Given the description of an element on the screen output the (x, y) to click on. 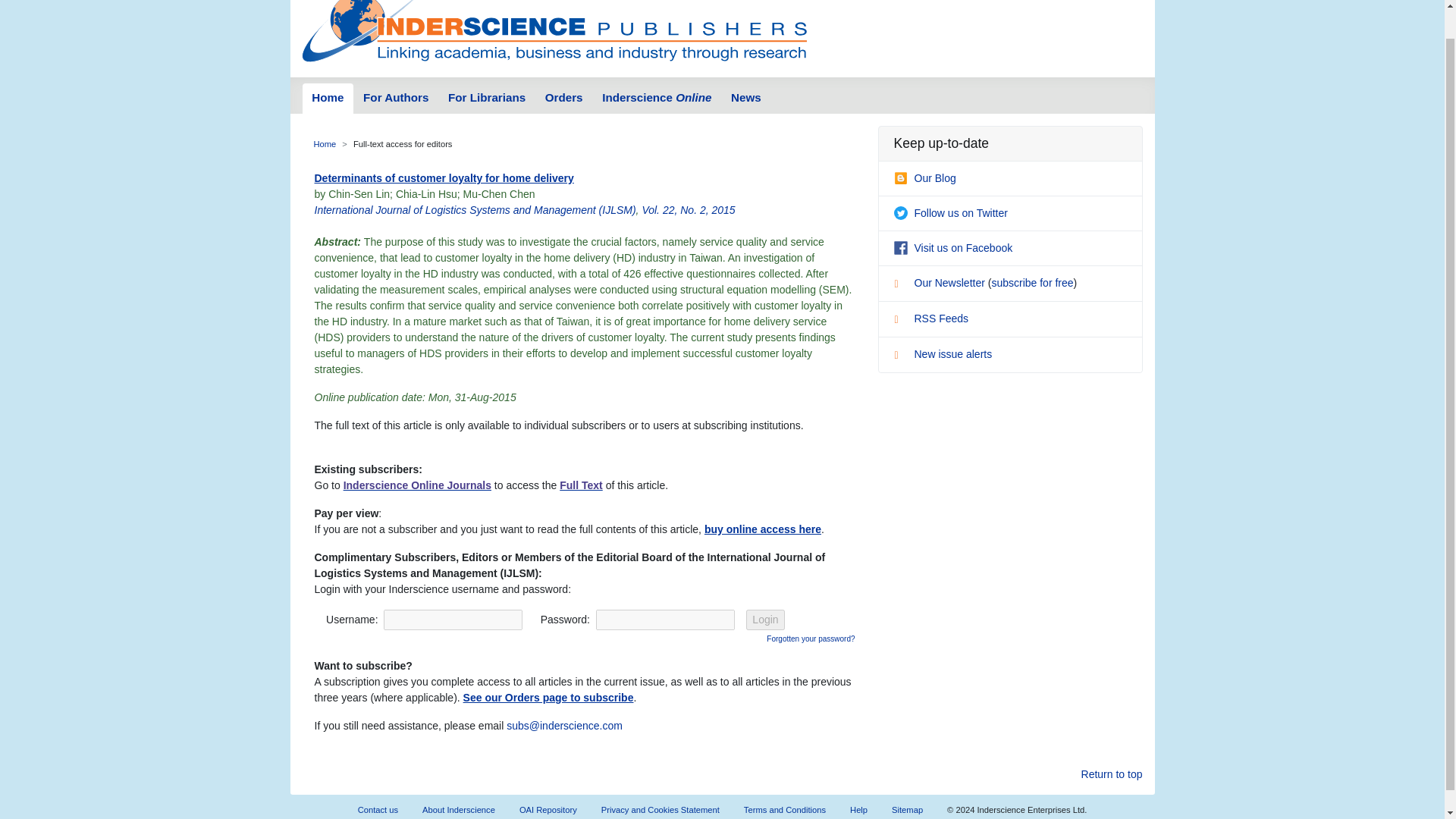
For Authors (395, 98)
Inderscience Online Journals (417, 485)
Home (327, 98)
Visit us on Facebook (952, 247)
See our Orders page to subscribe (548, 697)
Login (764, 619)
Our Blog (924, 177)
flag (901, 356)
Return to the top of the page (1111, 774)
Home (325, 143)
